Given the description of an element on the screen output the (x, y) to click on. 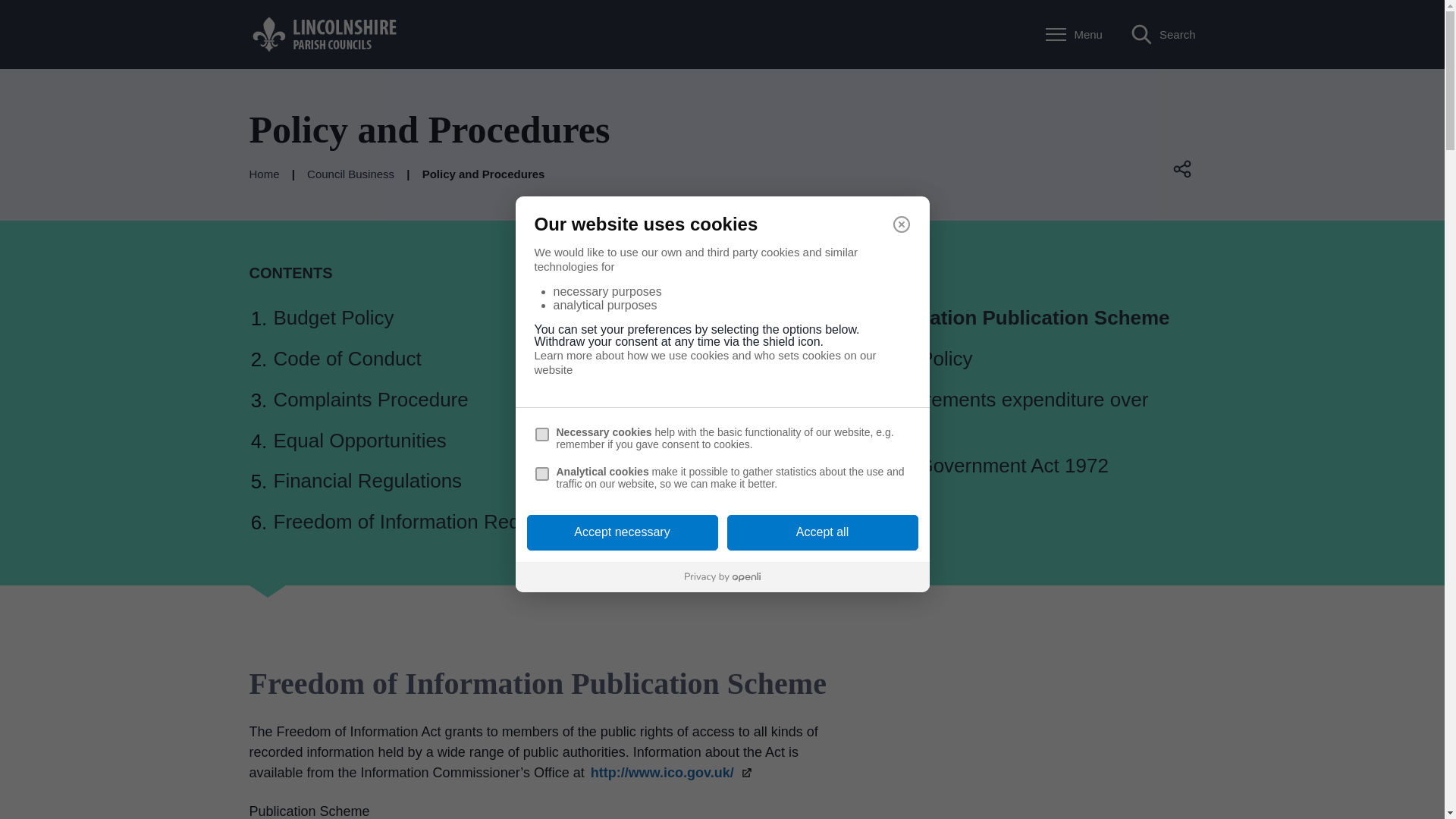
Privacy by Openli (722, 577)
Complaints Procedure (370, 399)
Logo: Visit the Kirkby Underwood Parish Council home page (324, 34)
Risk Management Policy (863, 358)
OPEN SHARE LINKS (1182, 168)
Freedom of Information Requests (419, 521)
Financial Regulations (367, 480)
Menu (1073, 34)
Section 137 Local Government Act 1972 Expenditure (931, 478)
Budget Policy (333, 317)
Home (263, 174)
Code of Conduct (346, 358)
Equal Opportunities (359, 440)
Council Business (350, 174)
Search (1163, 34)
